Given the description of an element on the screen output the (x, y) to click on. 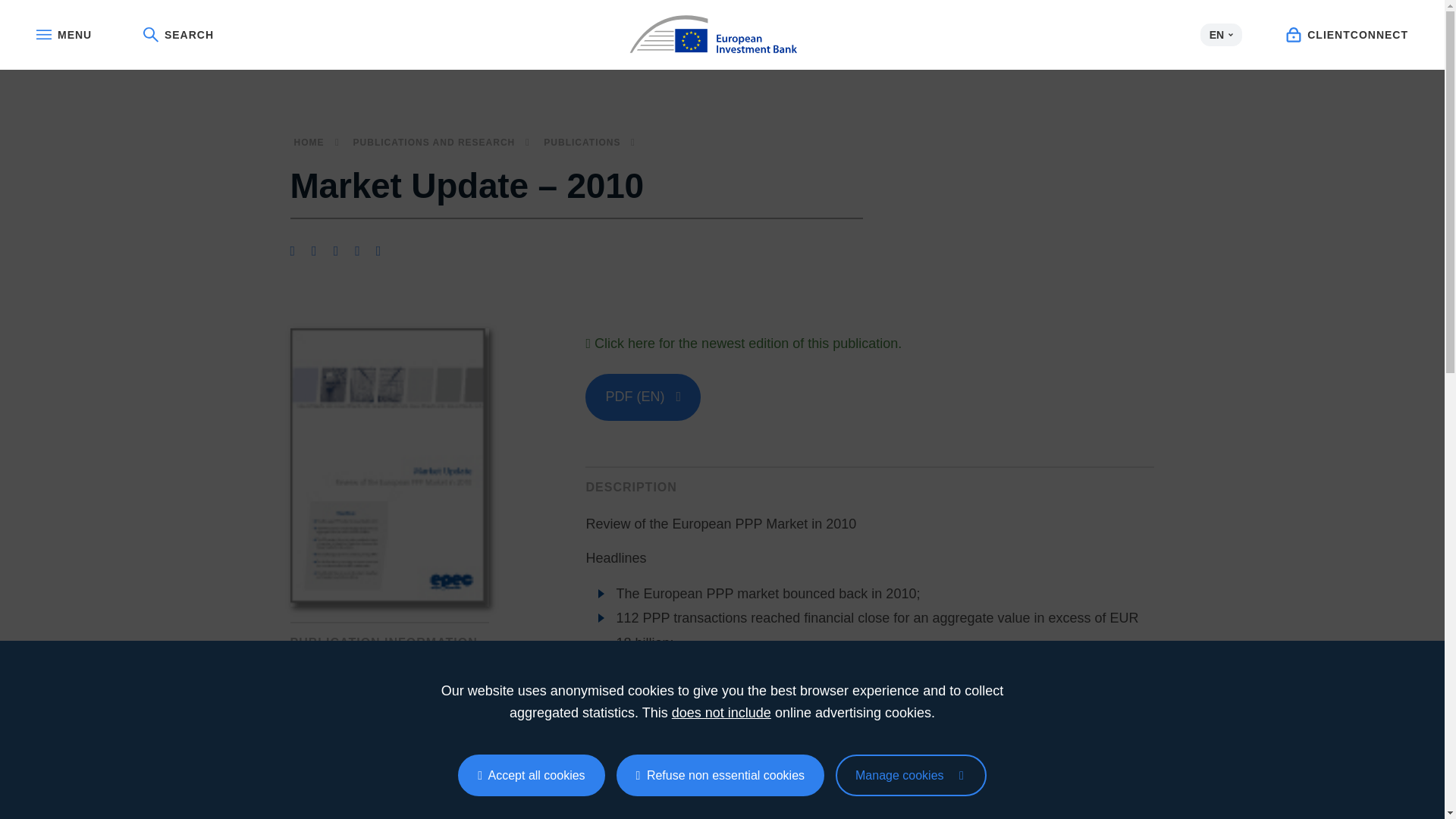
FR (1221, 58)
en (722, 31)
en (722, 35)
MENU (63, 34)
European Investment Bank (722, 35)
SEARCH (178, 34)
CLIENTCONNECT (1346, 34)
Privacy (911, 775)
